Given the description of an element on the screen output the (x, y) to click on. 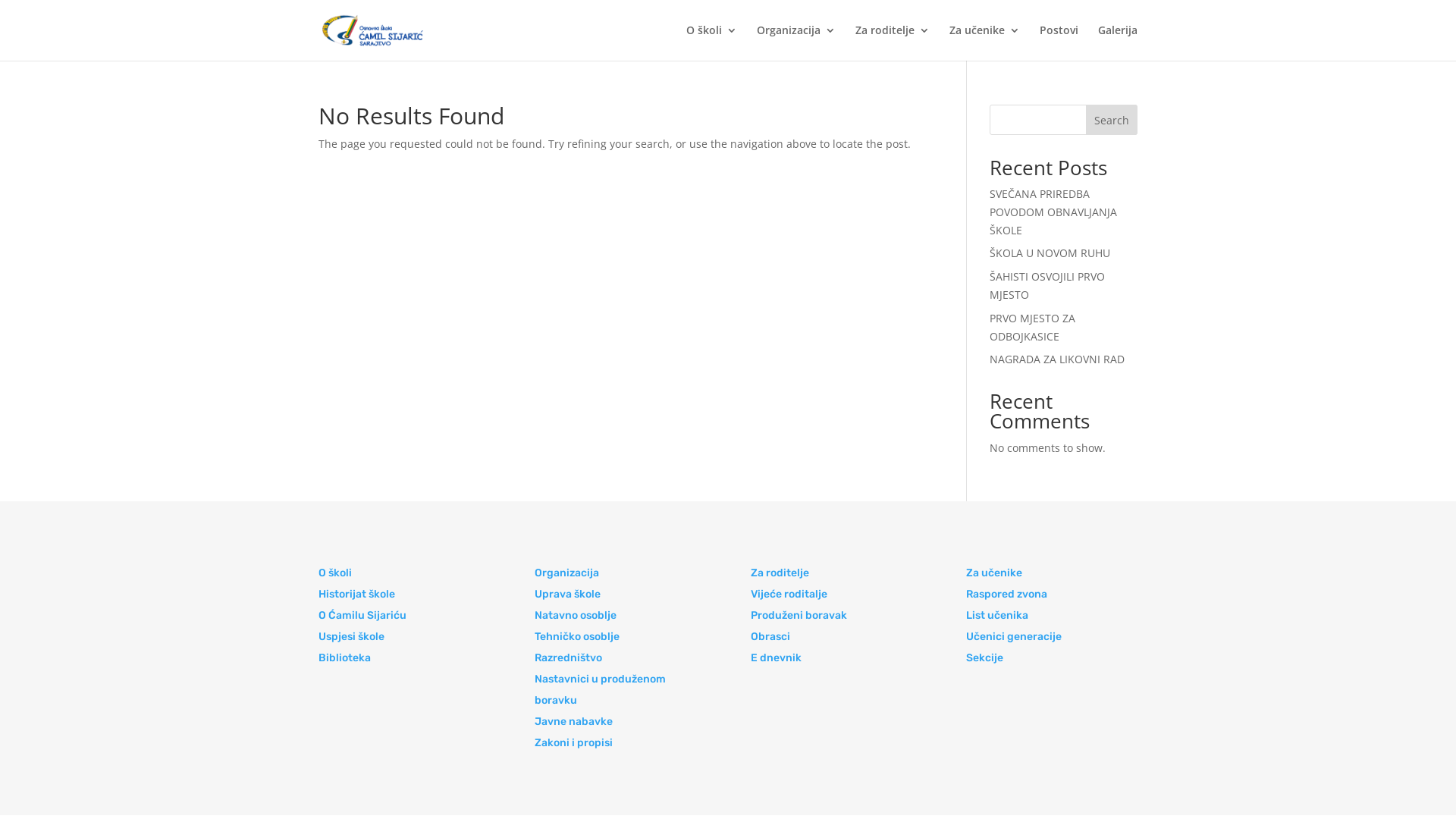
Postovi Element type: text (1058, 42)
Sekcije Element type: text (984, 657)
Galerija Element type: text (1117, 42)
Organizacija Element type: text (795, 42)
Search Element type: text (1111, 119)
Organizacija Element type: text (566, 572)
Raspored zvona Element type: text (1006, 593)
Za roditelje Element type: text (892, 42)
Za roditelje Element type: text (779, 572)
Javne nabavke Element type: text (573, 721)
PRVO MJESTO ZA ODBOJKASICE Element type: text (1032, 326)
Zakoni i propisi Element type: text (573, 742)
Obrasci Element type: text (770, 636)
Biblioteka Element type: text (344, 657)
NAGRADA ZA LIKOVNI RAD Element type: text (1056, 358)
Natavno osoblje Element type: text (575, 614)
E dnevnik Element type: text (775, 657)
